Given the description of an element on the screen output the (x, y) to click on. 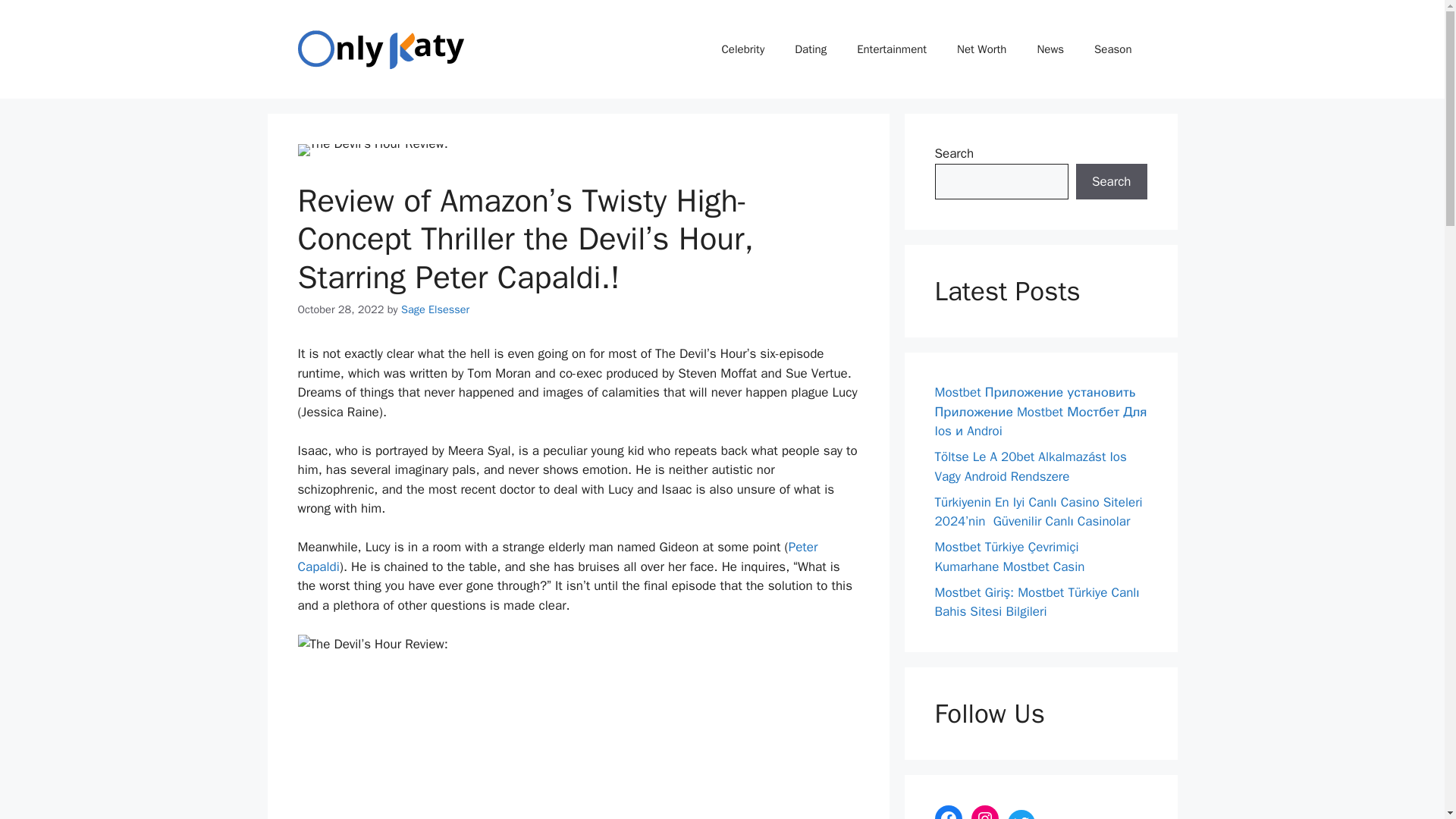
Net Worth (982, 49)
Twitter (1020, 814)
Search (1111, 181)
Instagram (984, 812)
Facebook (947, 812)
View all posts by Sage Elsesser (434, 309)
Peter Capaldi (556, 556)
Sage Elsesser (434, 309)
Entertainment (891, 49)
Celebrity (743, 49)
Dating (809, 49)
News (1050, 49)
Season (1112, 49)
